Given the description of an element on the screen output the (x, y) to click on. 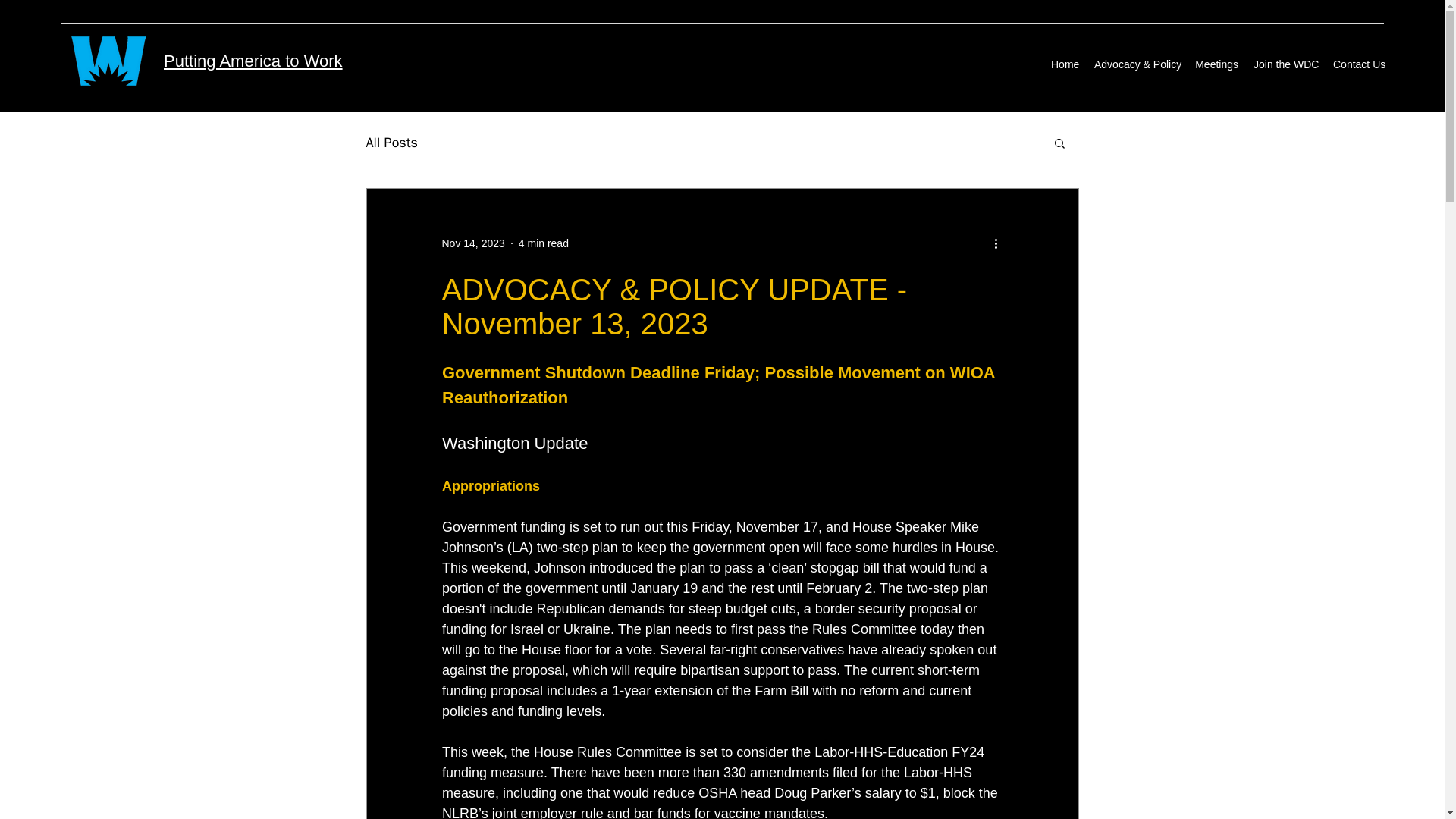
Putting America to Work (252, 60)
All Posts (390, 142)
Join the WDC (1285, 64)
Nov 14, 2023 (472, 243)
Meetings (1217, 64)
Contact Us (1357, 64)
4 min read (543, 243)
Home (1064, 64)
